Given the description of an element on the screen output the (x, y) to click on. 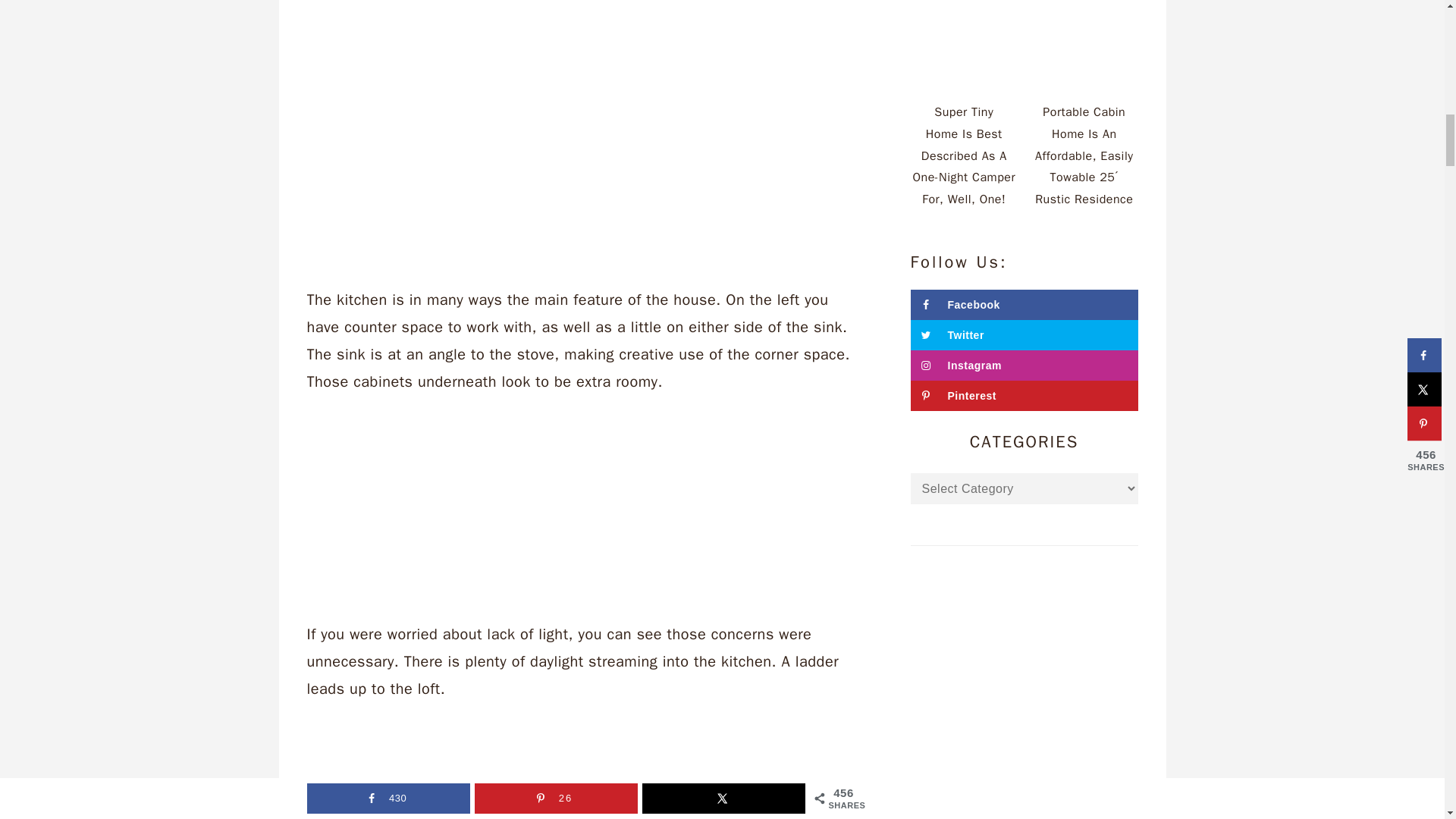
Follow on Twitter (1023, 335)
Follow on Facebook (1023, 304)
Follow on Instagram (1023, 365)
Follow on Pinterest (1023, 395)
